Given the description of an element on the screen output the (x, y) to click on. 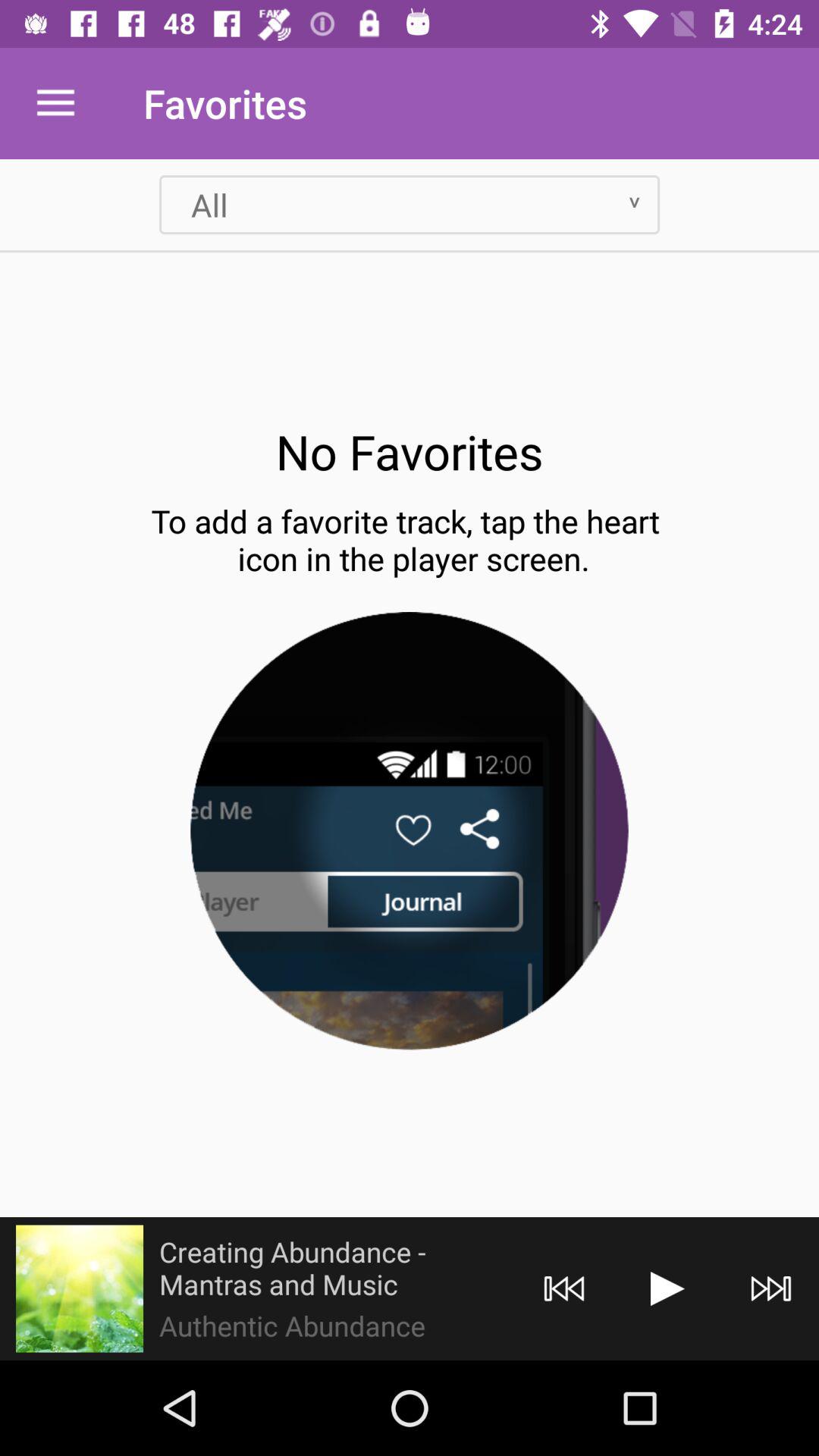
go to previous song (564, 1288)
